Given the description of an element on the screen output the (x, y) to click on. 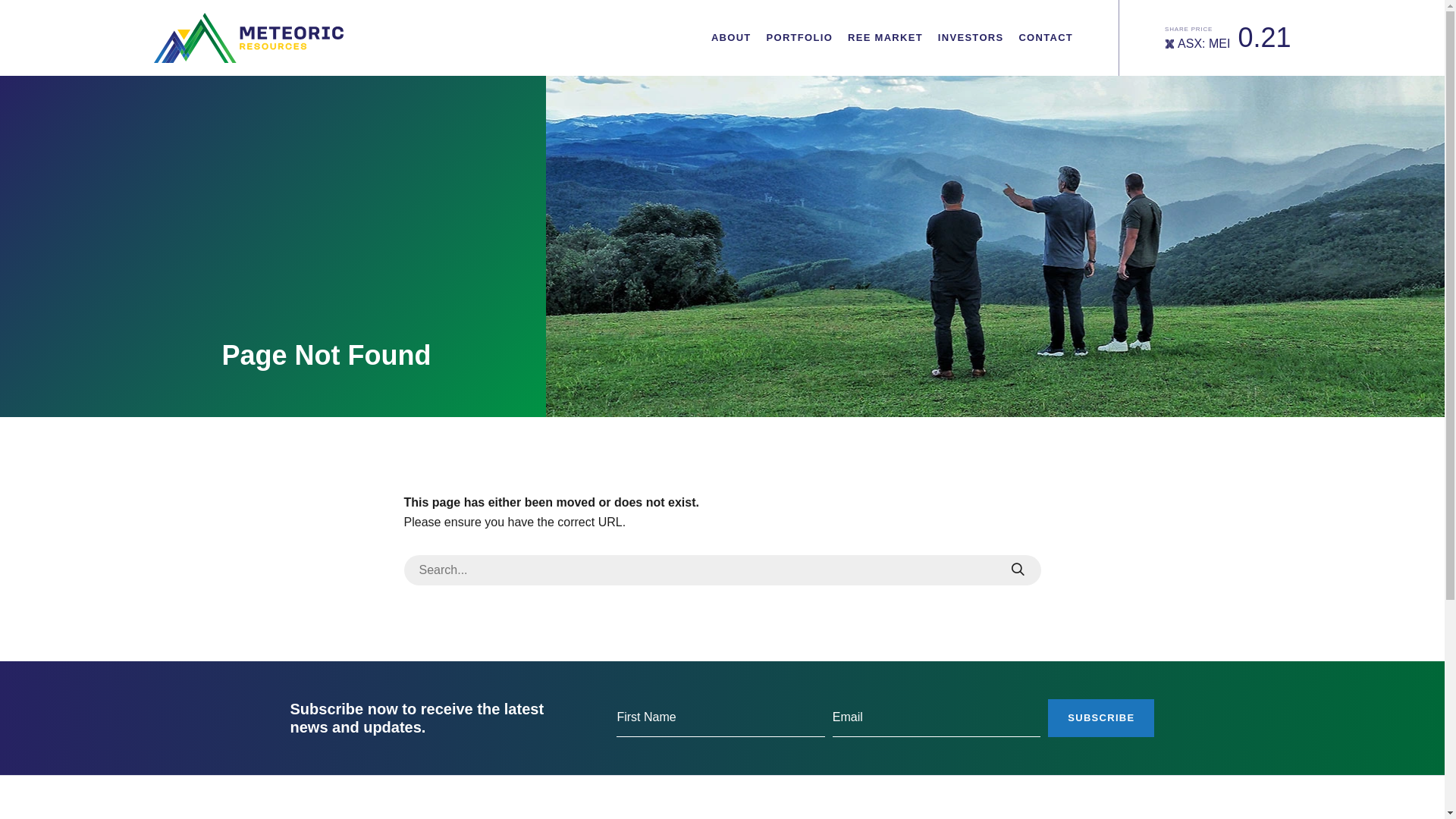
REE MARKET Element type: text (884, 37)
Subscribe Element type: text (1101, 718)
ABOUT Element type: text (731, 37)
INVESTORS Element type: text (971, 37)
PORTFOLIO Element type: text (799, 37)
CONTACT Element type: text (1045, 37)
